Given the description of an element on the screen output the (x, y) to click on. 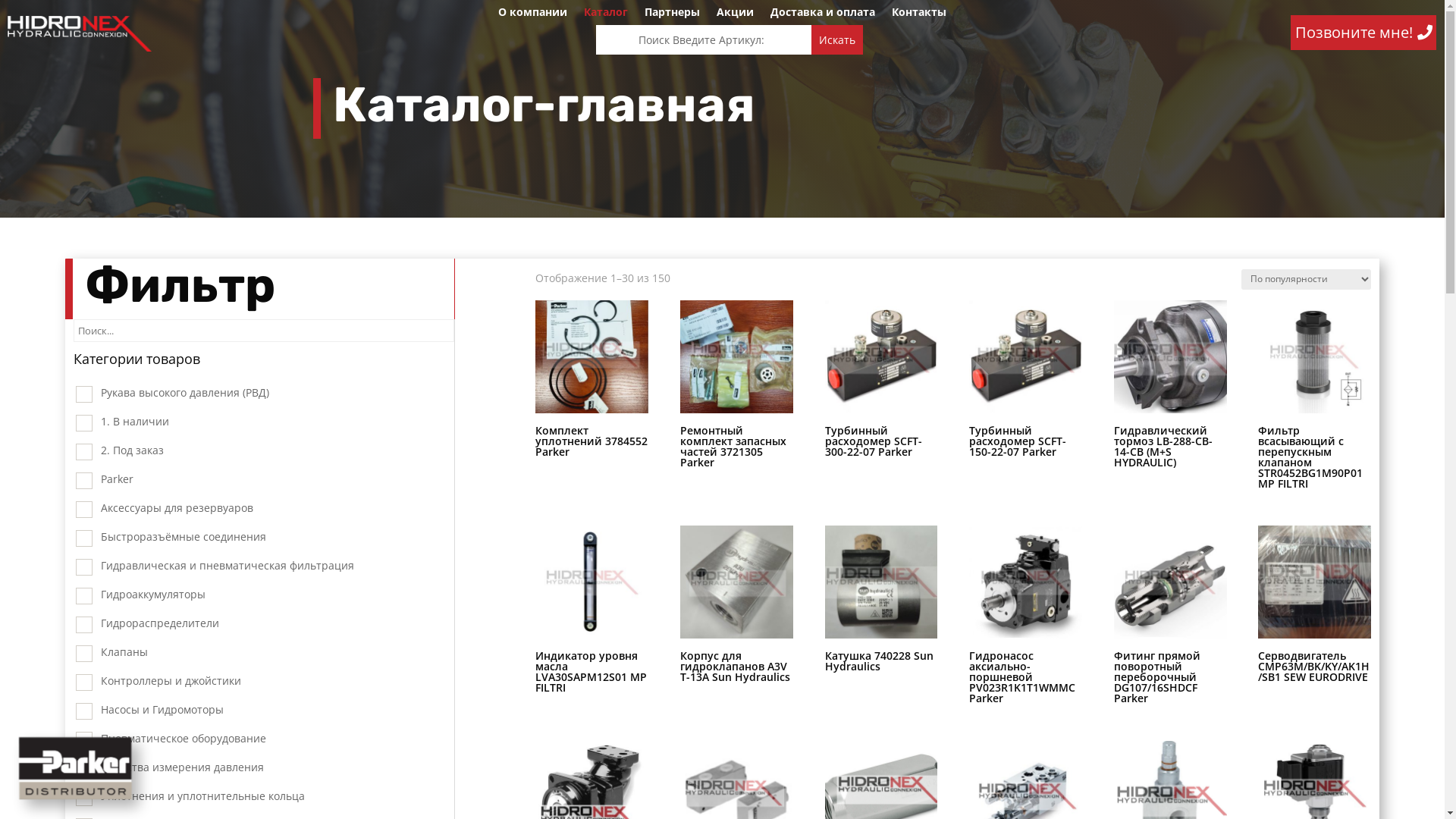
parker-distributor Element type: hover (76, 768)
White Logo Element type: hover (79, 33)
